Given the description of an element on the screen output the (x, y) to click on. 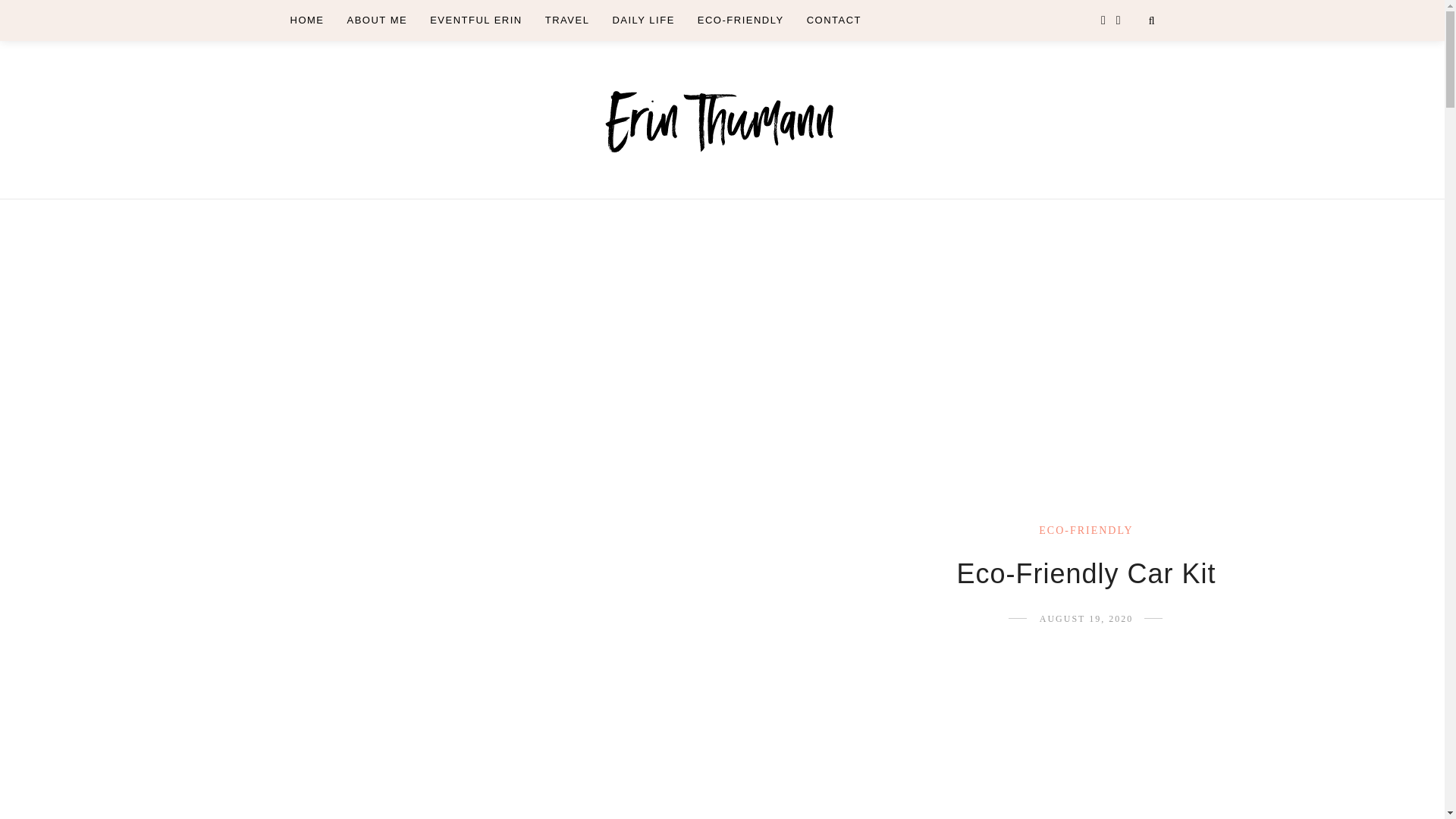
DAILY LIFE (642, 20)
TRAVEL (566, 20)
EVENTFUL ERIN (475, 20)
ECO-FRIENDLY (1085, 530)
ECO-FRIENDLY (740, 20)
CONTACT (833, 20)
AUGUST 19, 2020 (1085, 618)
ABOUT ME (377, 20)
